Given the description of an element on the screen output the (x, y) to click on. 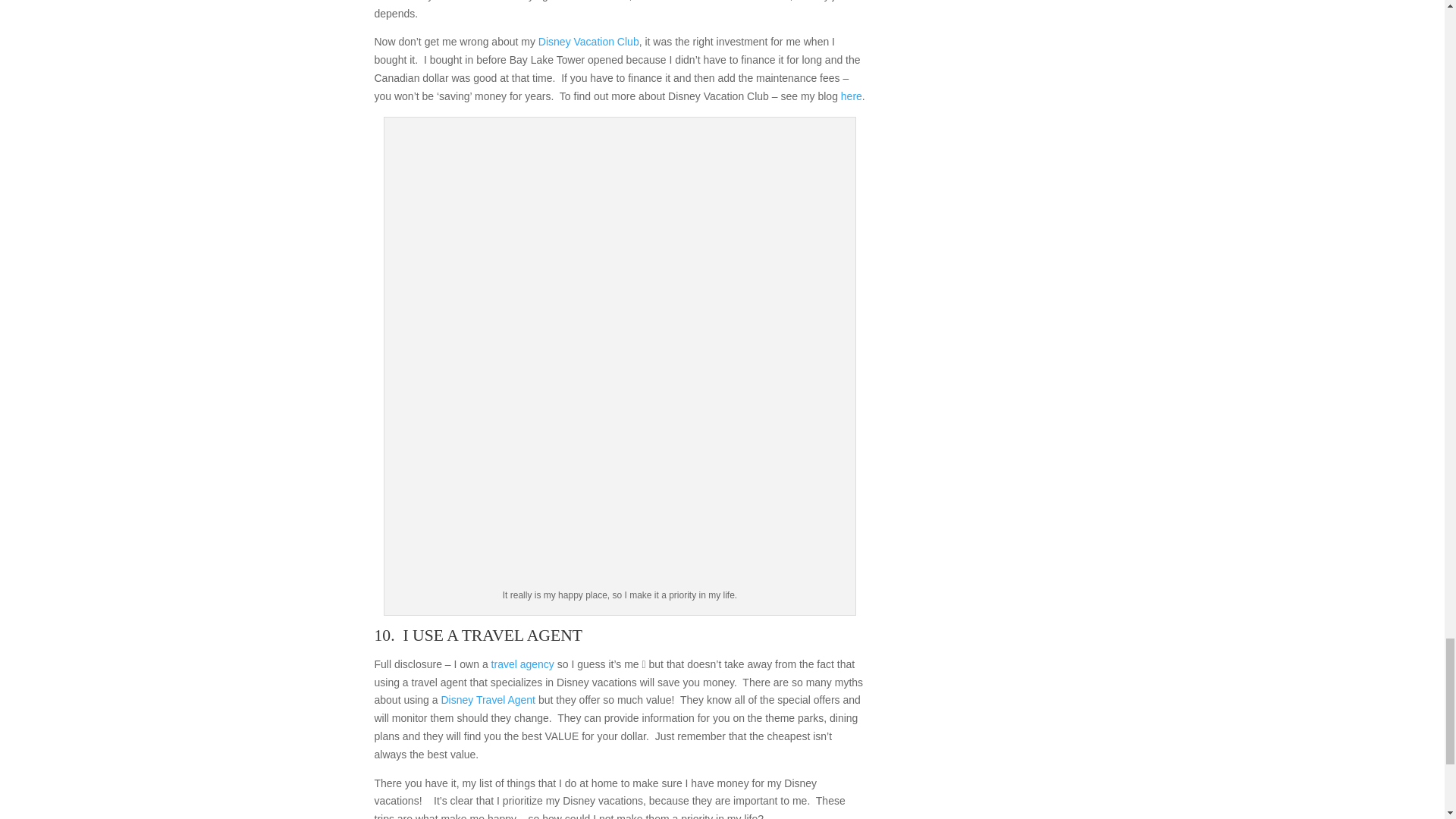
here (851, 96)
Disney Travel Agent (488, 699)
travel agency (523, 664)
Disney Vacation Club (588, 41)
